Given the description of an element on the screen output the (x, y) to click on. 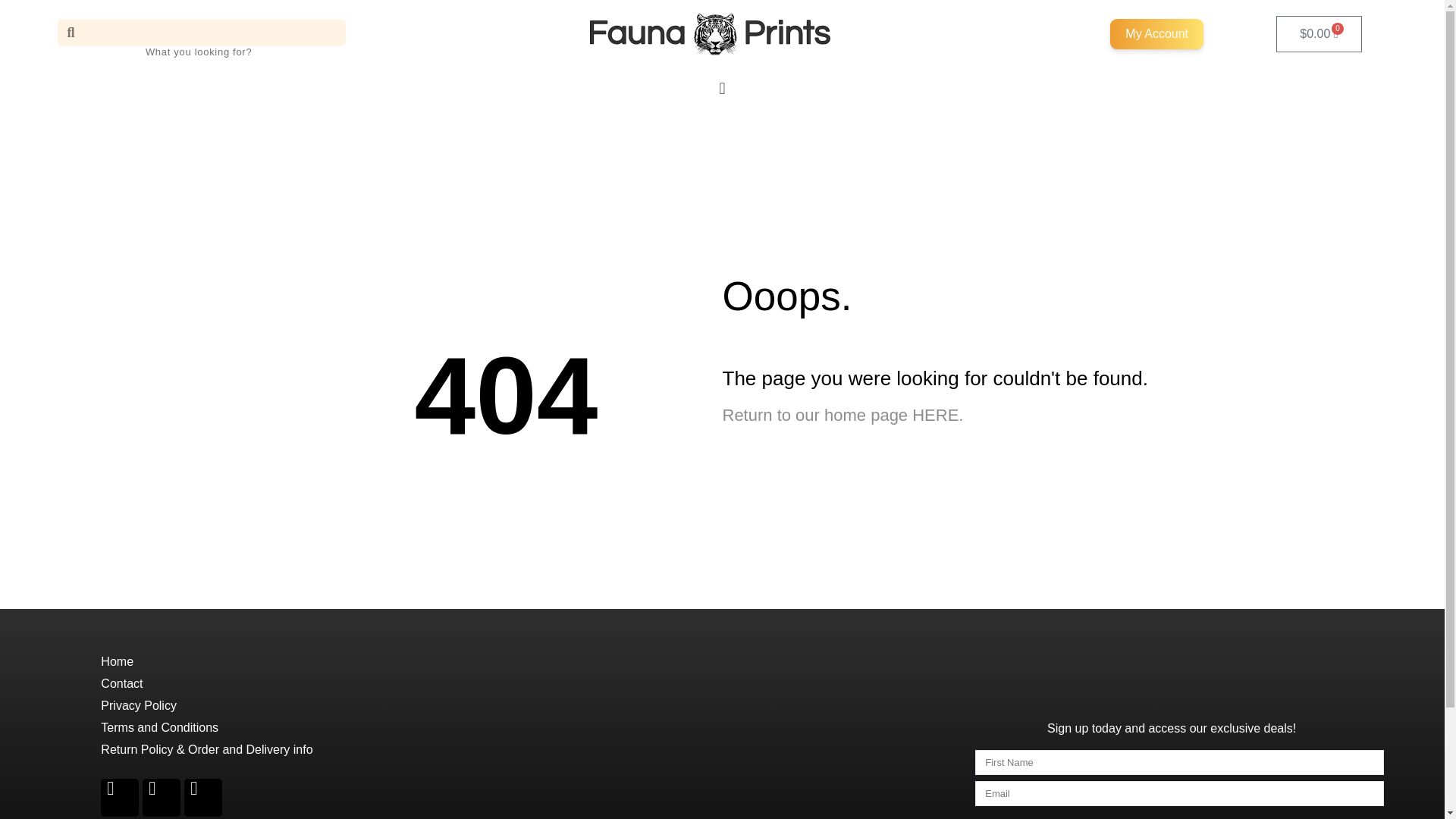
Terms and Conditions (159, 727)
Return to our home page HERE. (842, 415)
Facebook (119, 797)
Contact (121, 683)
Privacy Policy (138, 705)
Home (116, 661)
My Account (1156, 33)
Instagram (203, 797)
Pinterest (161, 797)
